Given the description of an element on the screen output the (x, y) to click on. 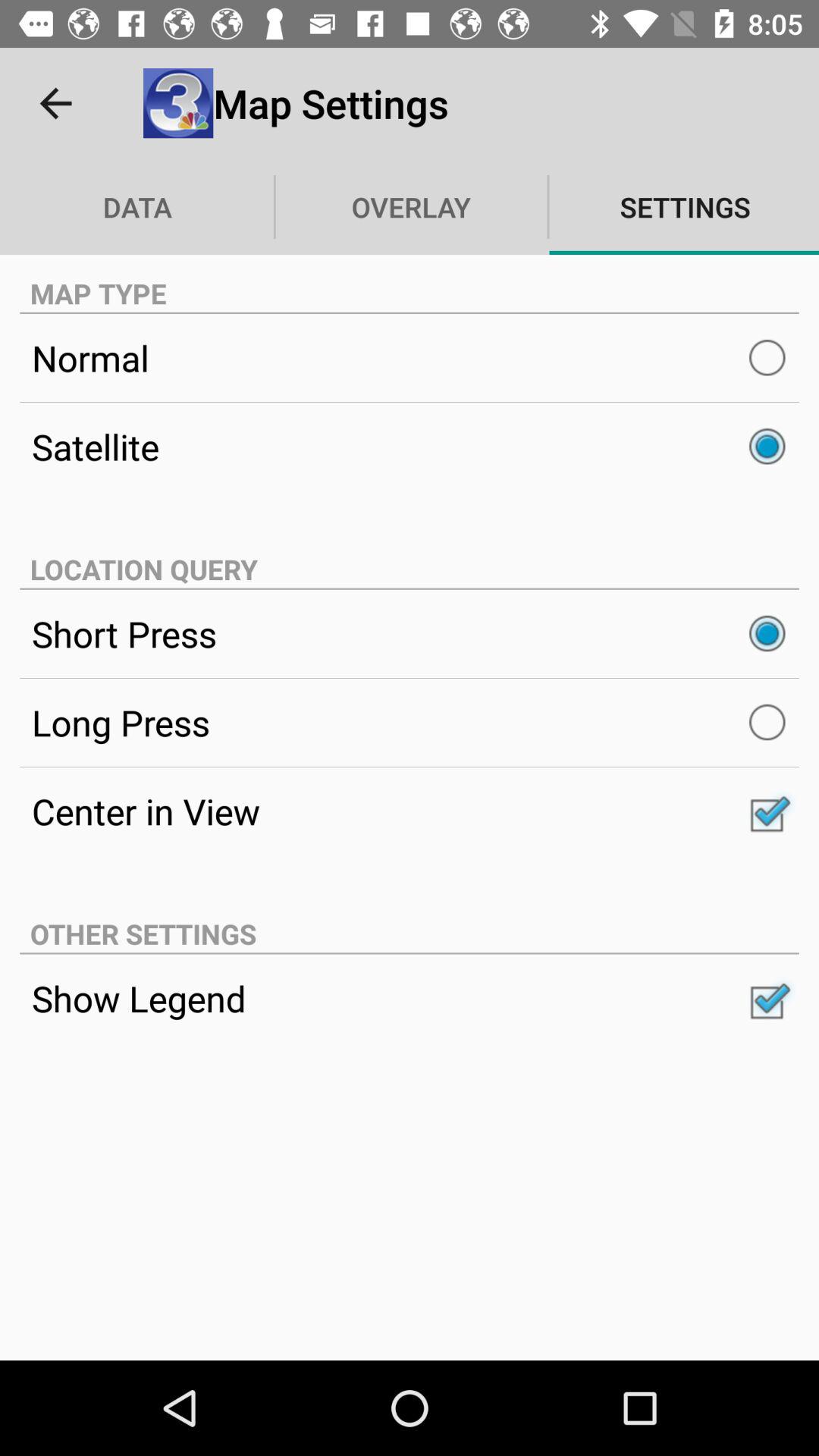
choose the item above the location query icon (409, 446)
